Given the description of an element on the screen output the (x, y) to click on. 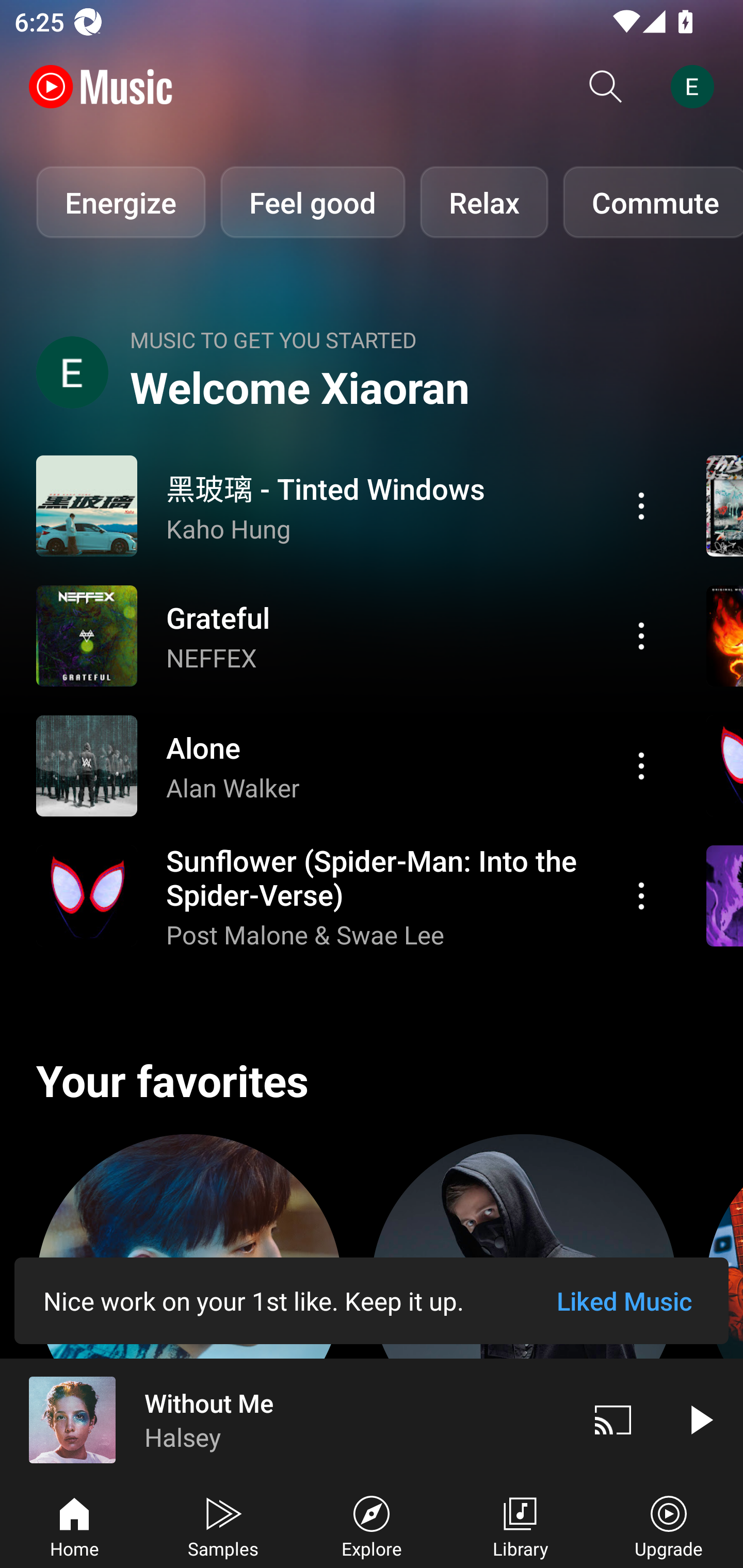
Search (605, 86)
Account (696, 86)
Action menu (349, 505)
Action menu (641, 505)
Action menu (349, 635)
Action menu (641, 635)
Action menu (349, 765)
Action menu (641, 765)
Action menu (349, 896)
Action menu (641, 896)
Liked Music (624, 1300)
Without Me Halsey (284, 1419)
Cast. Disconnected (612, 1419)
Play video (699, 1419)
Samples (222, 1524)
Explore (371, 1524)
Library (519, 1524)
Upgrade (668, 1524)
